Given the description of an element on the screen output the (x, y) to click on. 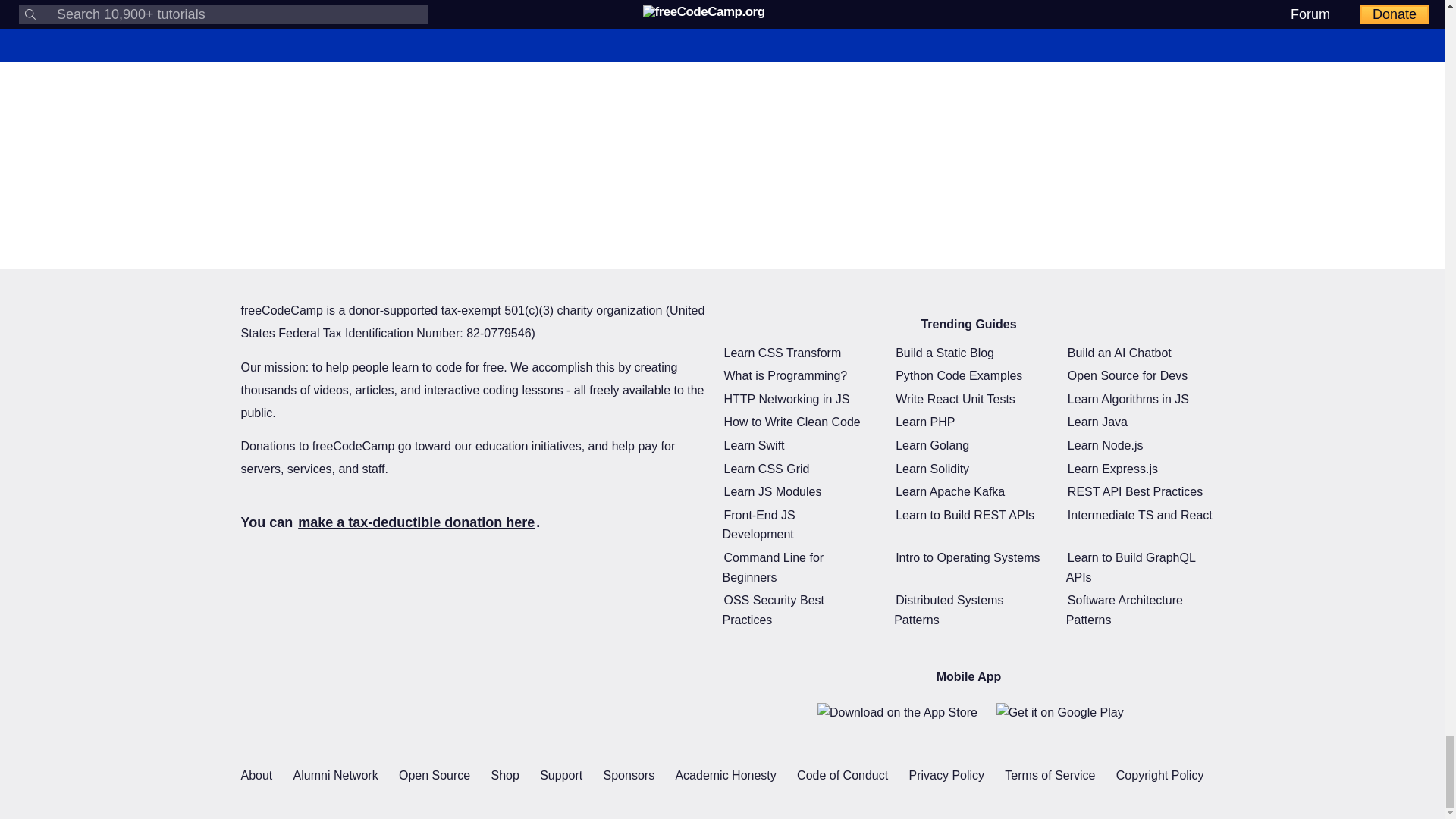
Write React Unit Tests (954, 399)
How to Write Clean Code (791, 421)
Learn Golang (932, 445)
What is Programming? (785, 375)
Learn Express.js (1111, 468)
Learn Node.js (1104, 445)
Learn CSS Grid (766, 468)
Learn Java (1097, 421)
Learn JS Modules (772, 491)
HTTP Networking in JS (786, 399)
